Given the description of an element on the screen output the (x, y) to click on. 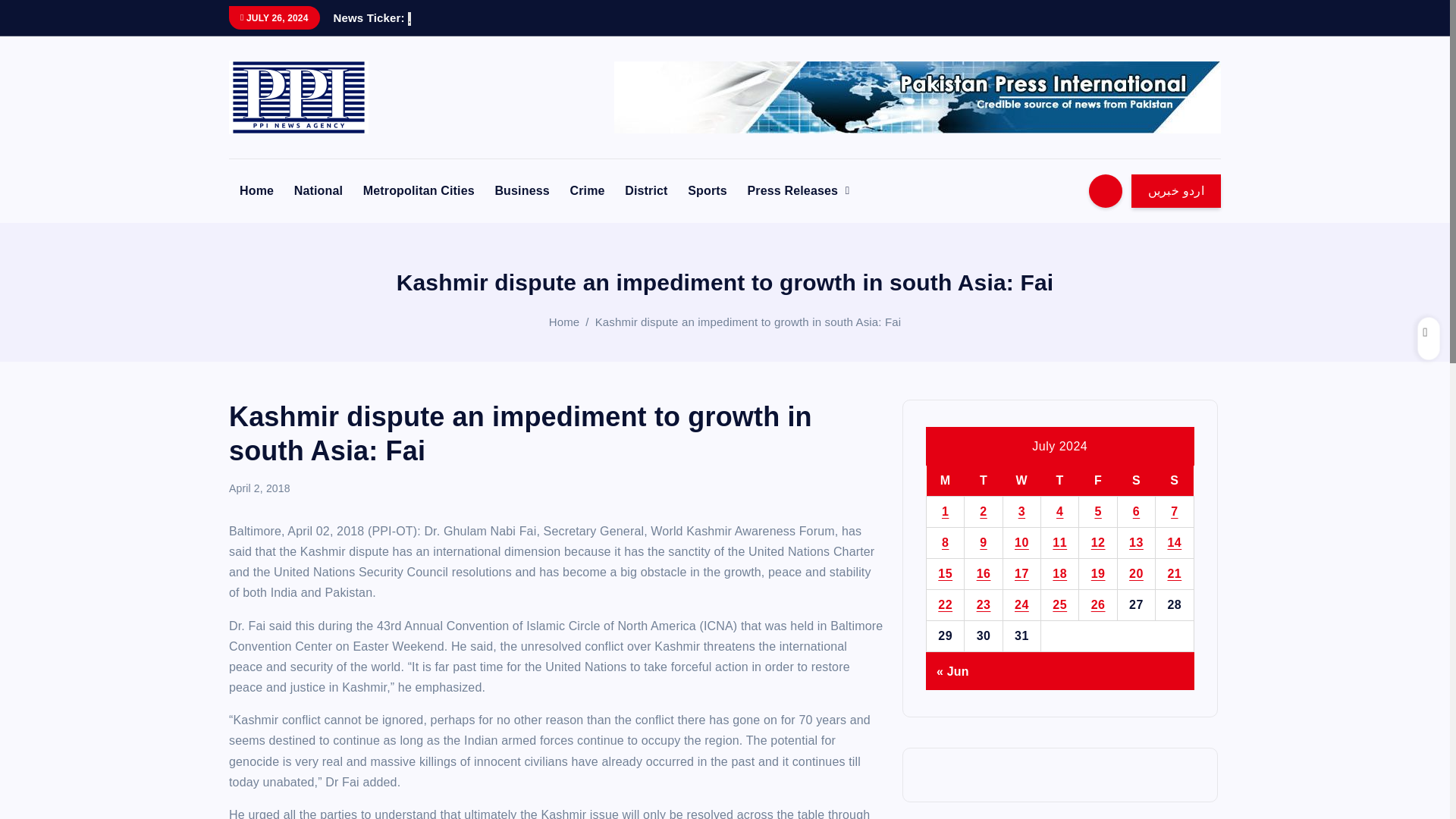
Metropolitan Cities (418, 190)
Press Releases (798, 190)
Press Releases (798, 190)
Sports (707, 190)
District (646, 190)
Business (521, 190)
Home (255, 190)
Business (521, 190)
National (318, 190)
Metropolitan Cities (418, 190)
Home (563, 321)
Crime (586, 190)
National (318, 190)
Home (255, 190)
District (646, 190)
